Given the description of an element on the screen output the (x, y) to click on. 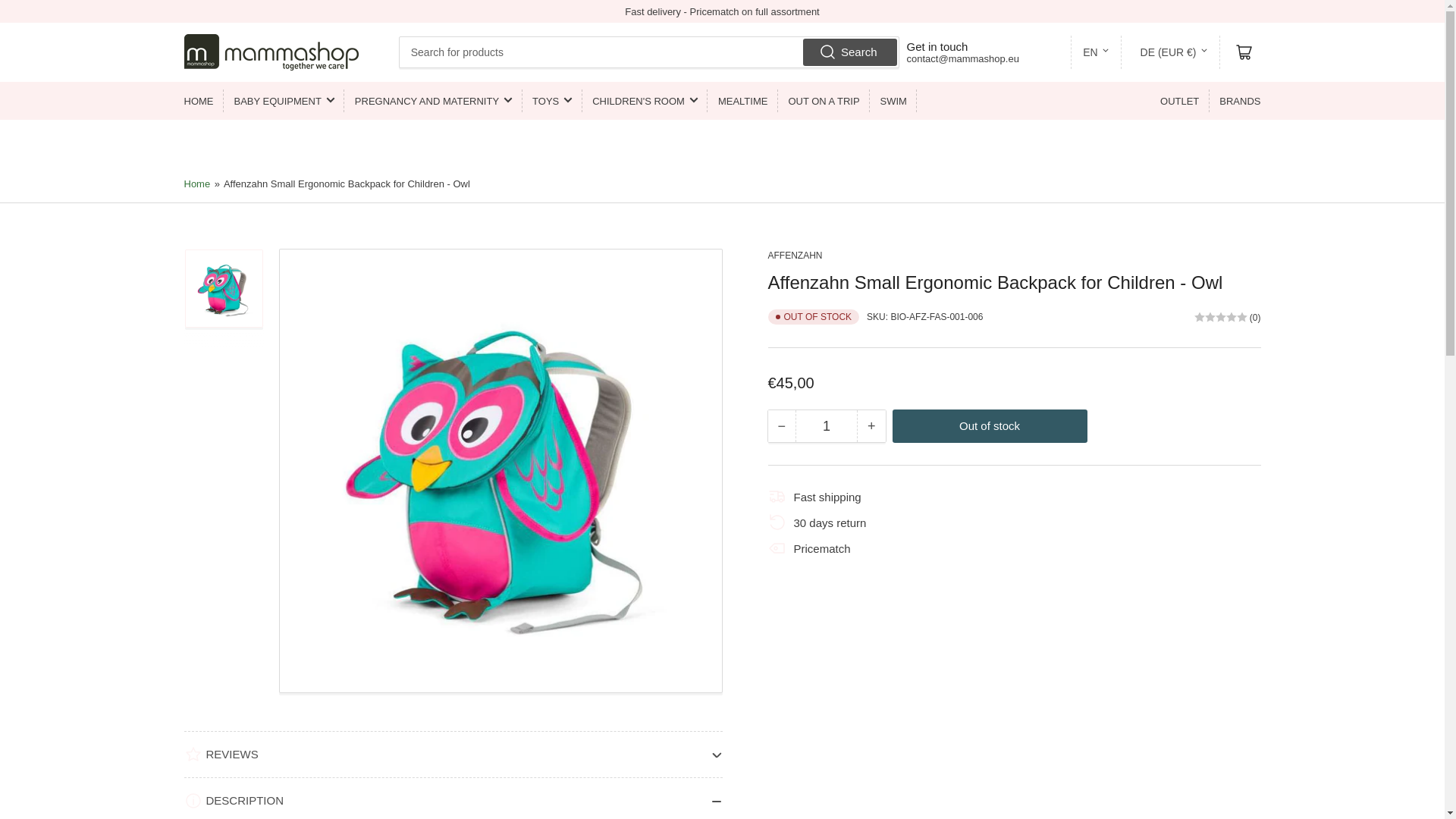
Search (849, 52)
Affenzahn (794, 255)
Open mini cart (1243, 52)
1 (825, 426)
